Given the description of an element on the screen output the (x, y) to click on. 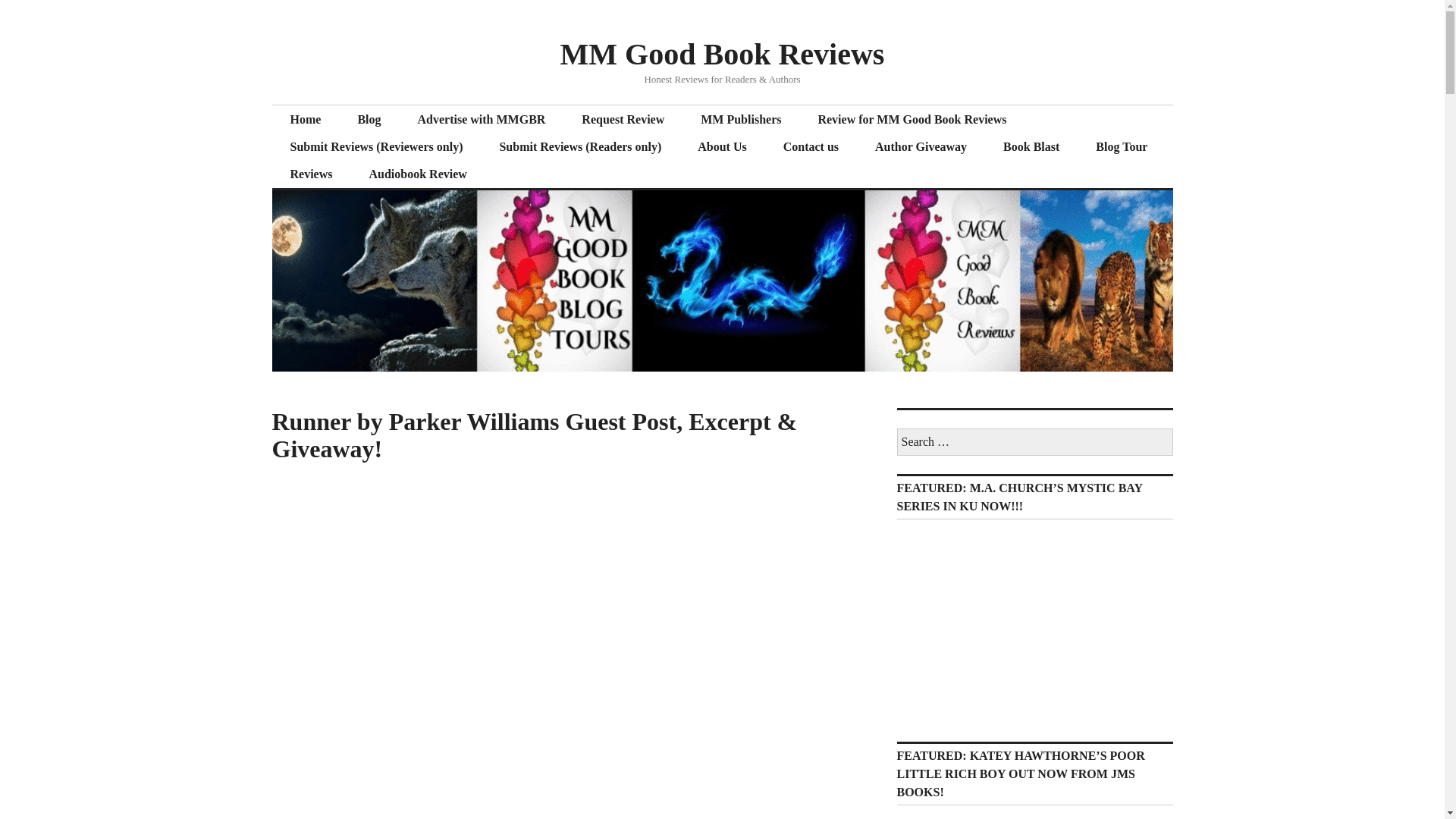
Book Blast (1031, 146)
MM Good Book Reviews (722, 53)
Advertise with MMGBR (480, 119)
Blog (368, 119)
Review for MM Good Book Reviews (912, 119)
Contact us (811, 146)
Advertise with MMGBR (987, 628)
Blog Tour (1121, 146)
MM Publishers (740, 119)
Reviews (310, 174)
